Given the description of an element on the screen output the (x, y) to click on. 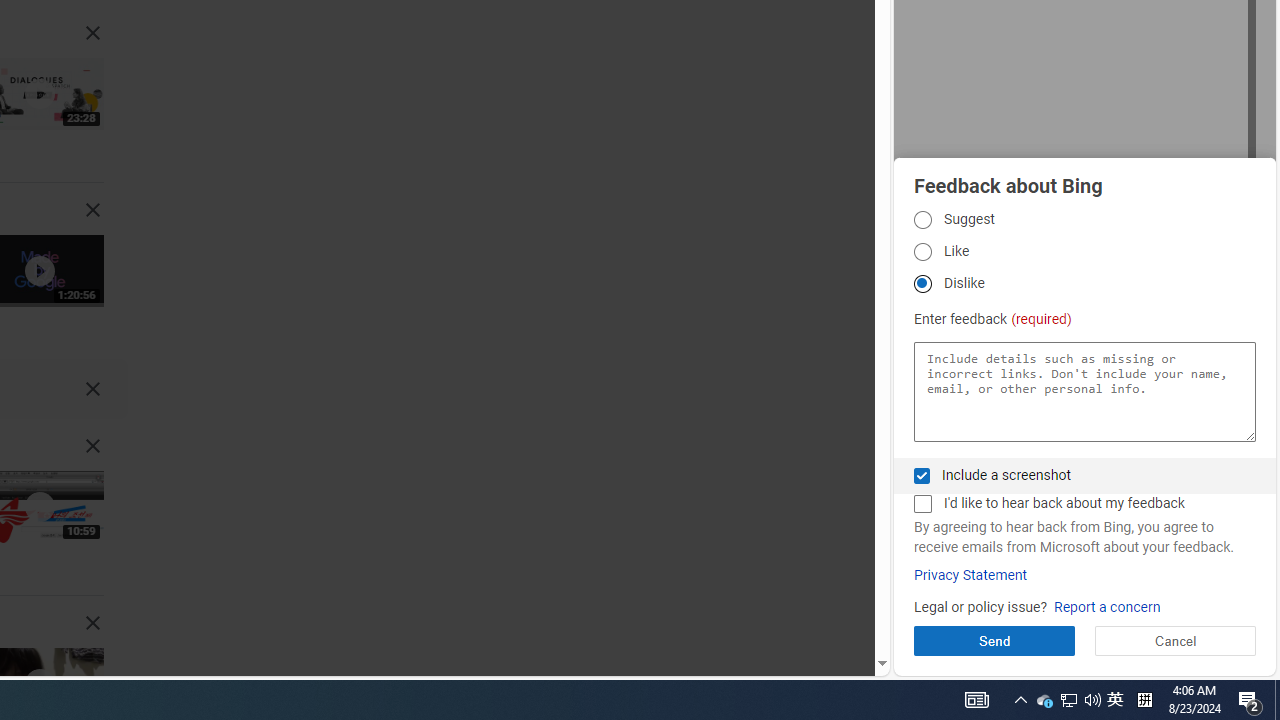
AutomationID: fbpgdgtp2 (922, 251)
AutomationID: fbpgdgcmchk (922, 503)
Privacy Statement (970, 575)
AutomationID: fbpgdgsschk (921, 475)
Include a screenshot Include a screenshot (921, 475)
Report a concern (1106, 607)
Send (994, 640)
Like Like (922, 251)
Dislike Dislike (922, 284)
Suggest Suggest (922, 219)
Cancel (1174, 640)
AutomationID: fbpgdgtp3 (922, 284)
AutomationID: fbpgdgtp1 (922, 219)
